Given the description of an element on the screen output the (x, y) to click on. 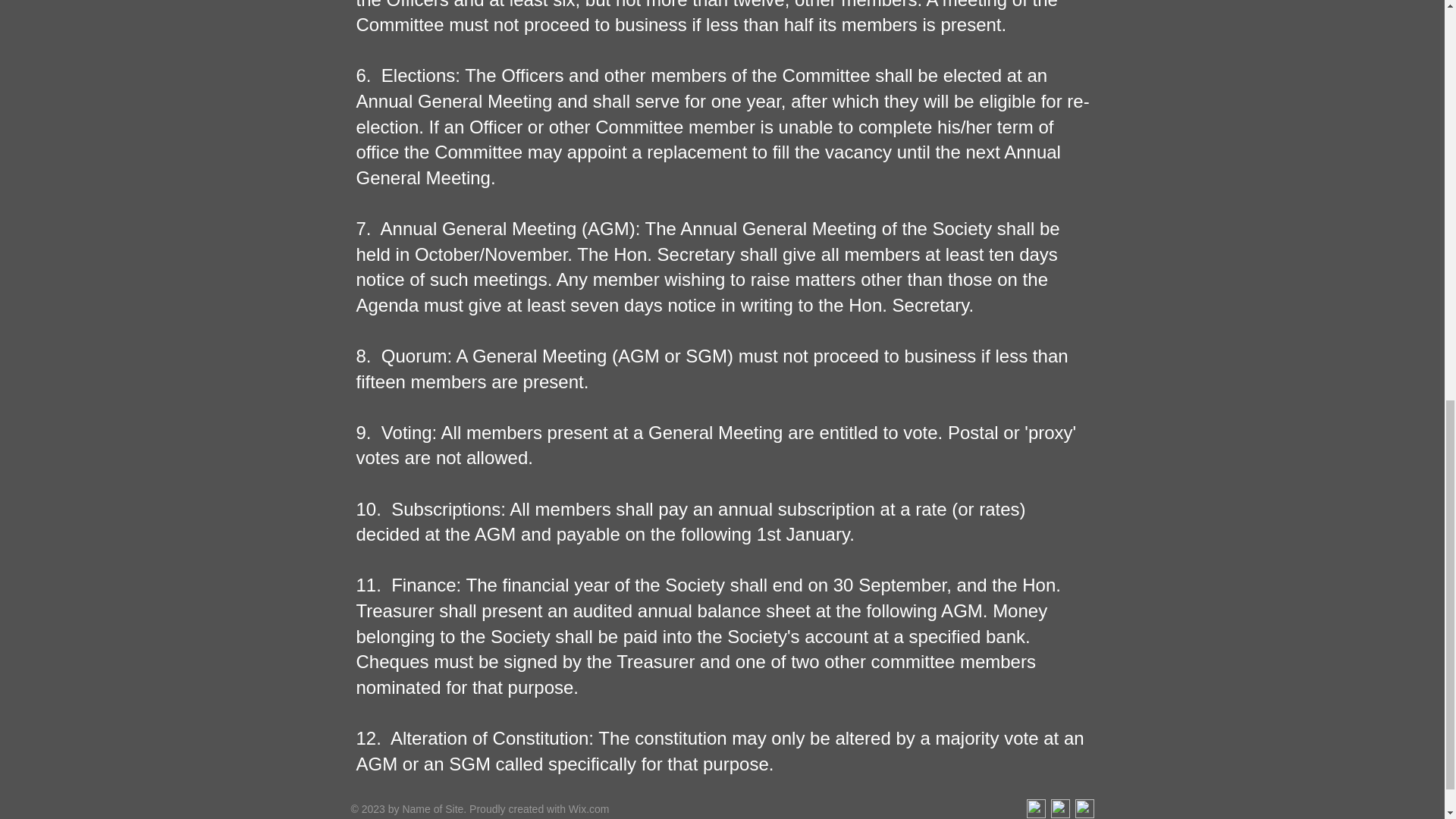
Wix.com (589, 808)
